Given the description of an element on the screen output the (x, y) to click on. 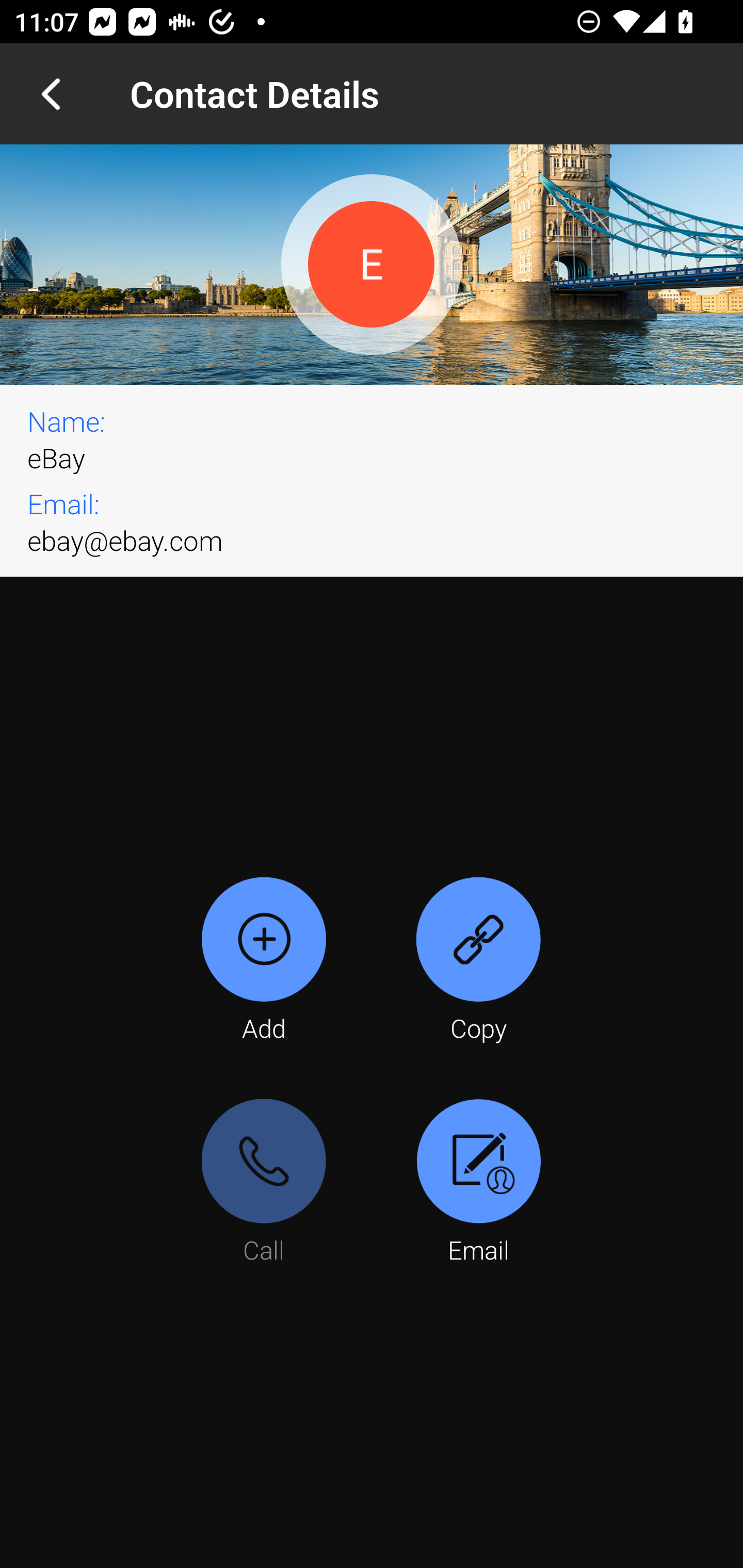
Navigate up (50, 93)
Add (264, 961)
Copy (478, 961)
Call (264, 1182)
Email (478, 1182)
